Given the description of an element on the screen output the (x, y) to click on. 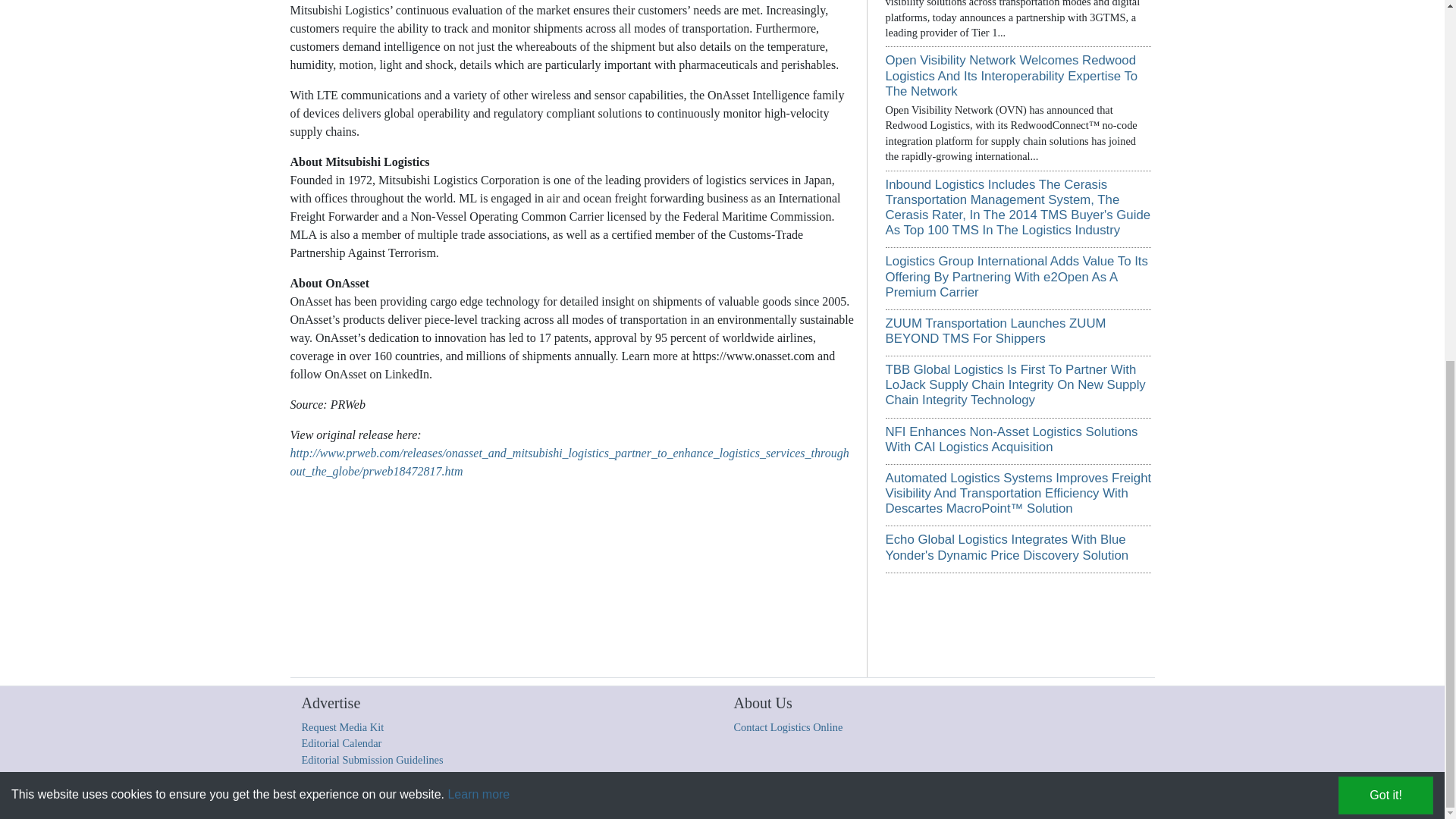
Subscriber Request Form (858, 799)
Don't sell my information (960, 799)
Request Media Kit (342, 727)
VertMarkets, Inc. (561, 799)
Editorial Submission Guidelines (372, 759)
Privacy Statement (770, 799)
Copyright (453, 799)
Terms of Use (704, 799)
Got it! (1385, 155)
Contact Logistics Online (788, 727)
